Given the description of an element on the screen output the (x, y) to click on. 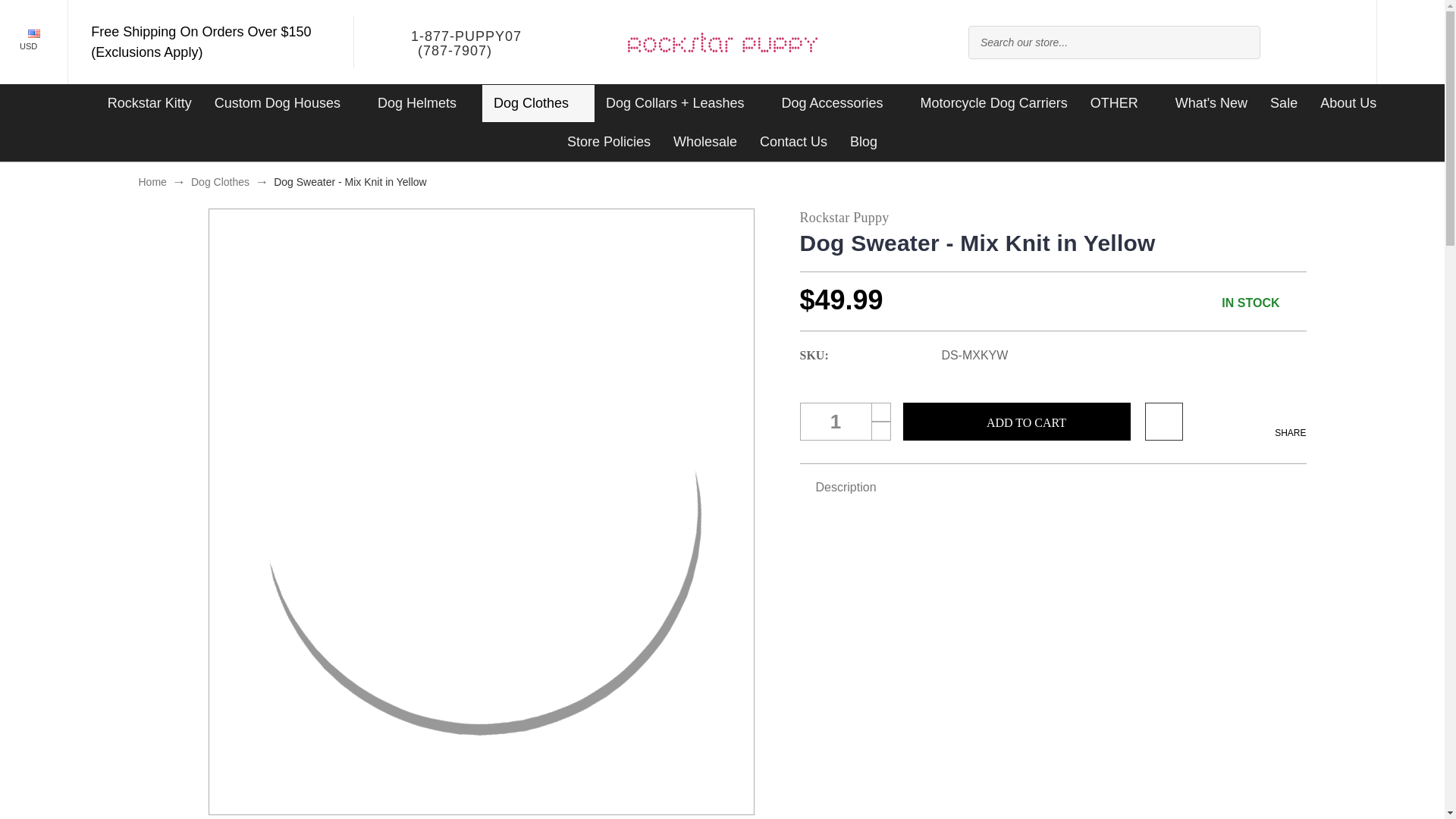
Rockstar Kitty (149, 103)
Compare (1290, 42)
COMPARE (1290, 42)
Custom Dog Houses (284, 103)
Dog Helmets (423, 103)
USD (34, 41)
Rockstar Puppy (721, 41)
SEARCH (1239, 42)
Dog Clothes (537, 103)
1 (844, 421)
USER (1337, 42)
